Given the description of an element on the screen output the (x, y) to click on. 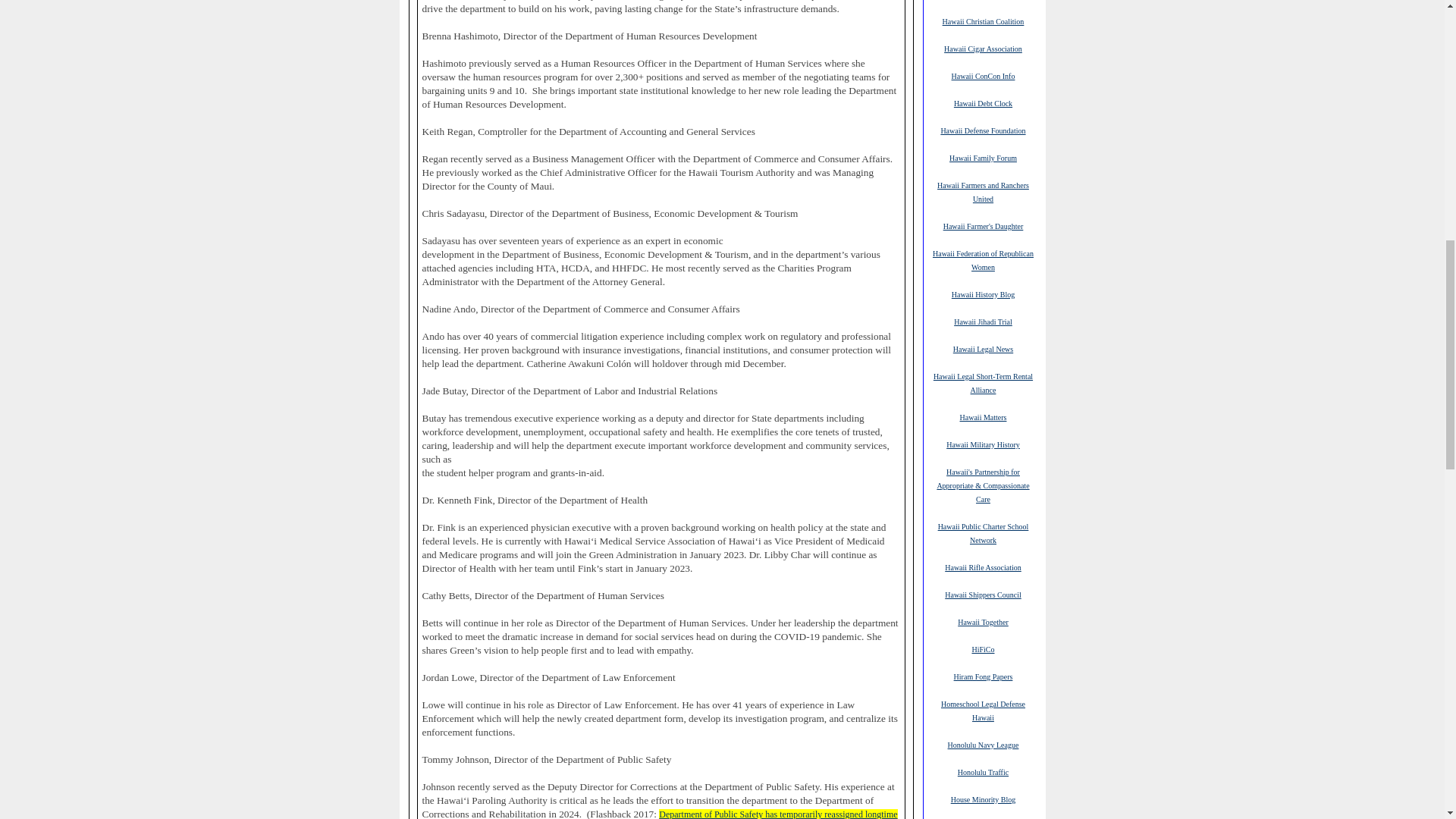
Hawaii ConCon Info (983, 75)
Hawaii Defense Foundation (982, 130)
Hawaii Christian Coalition (983, 20)
Hawaii Debt Clock (982, 102)
Hawaii Cigar Association (982, 48)
